Given the description of an element on the screen output the (x, y) to click on. 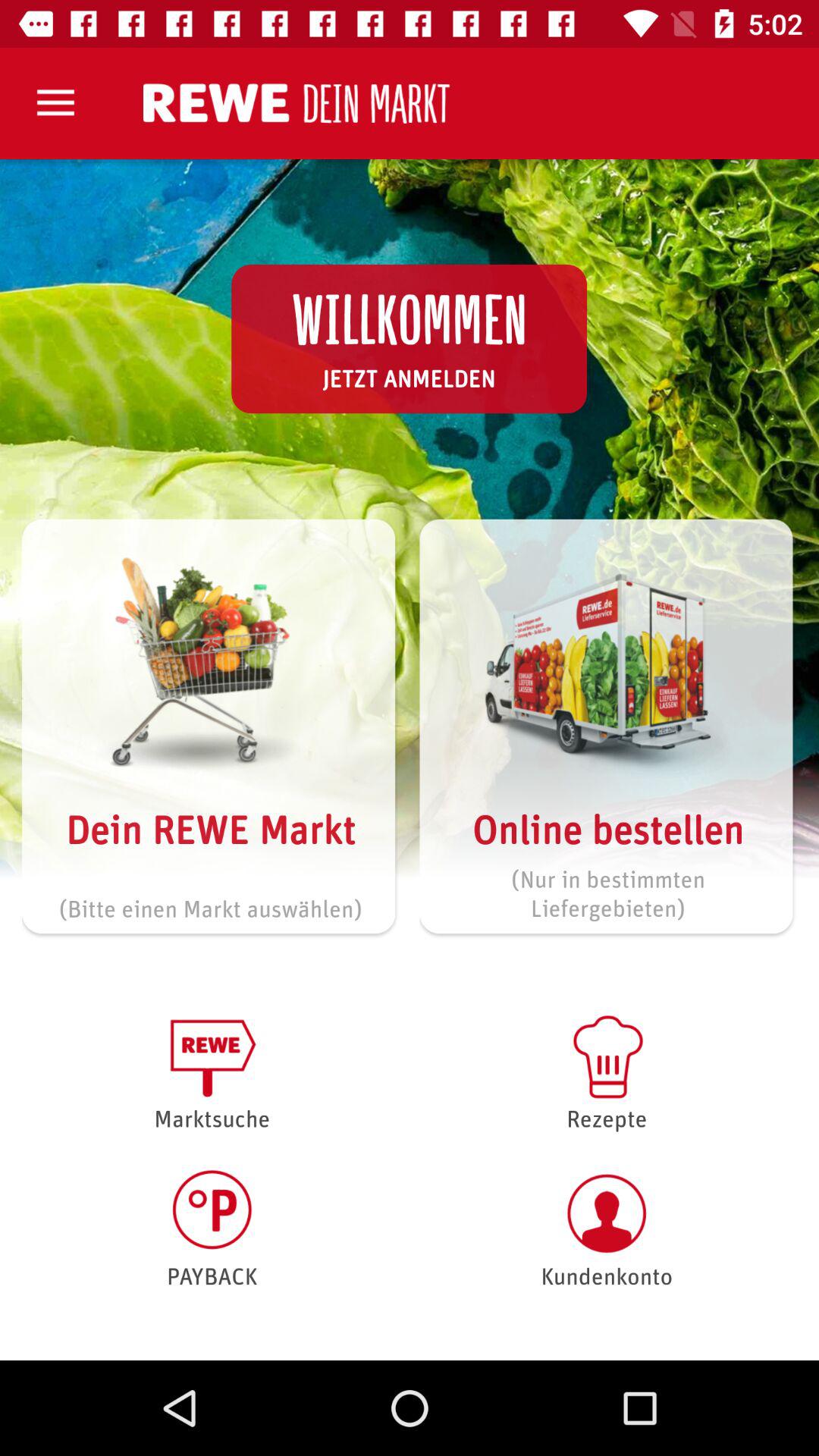
click the item below bitte einen markt (211, 1070)
